Given the description of an element on the screen output the (x, y) to click on. 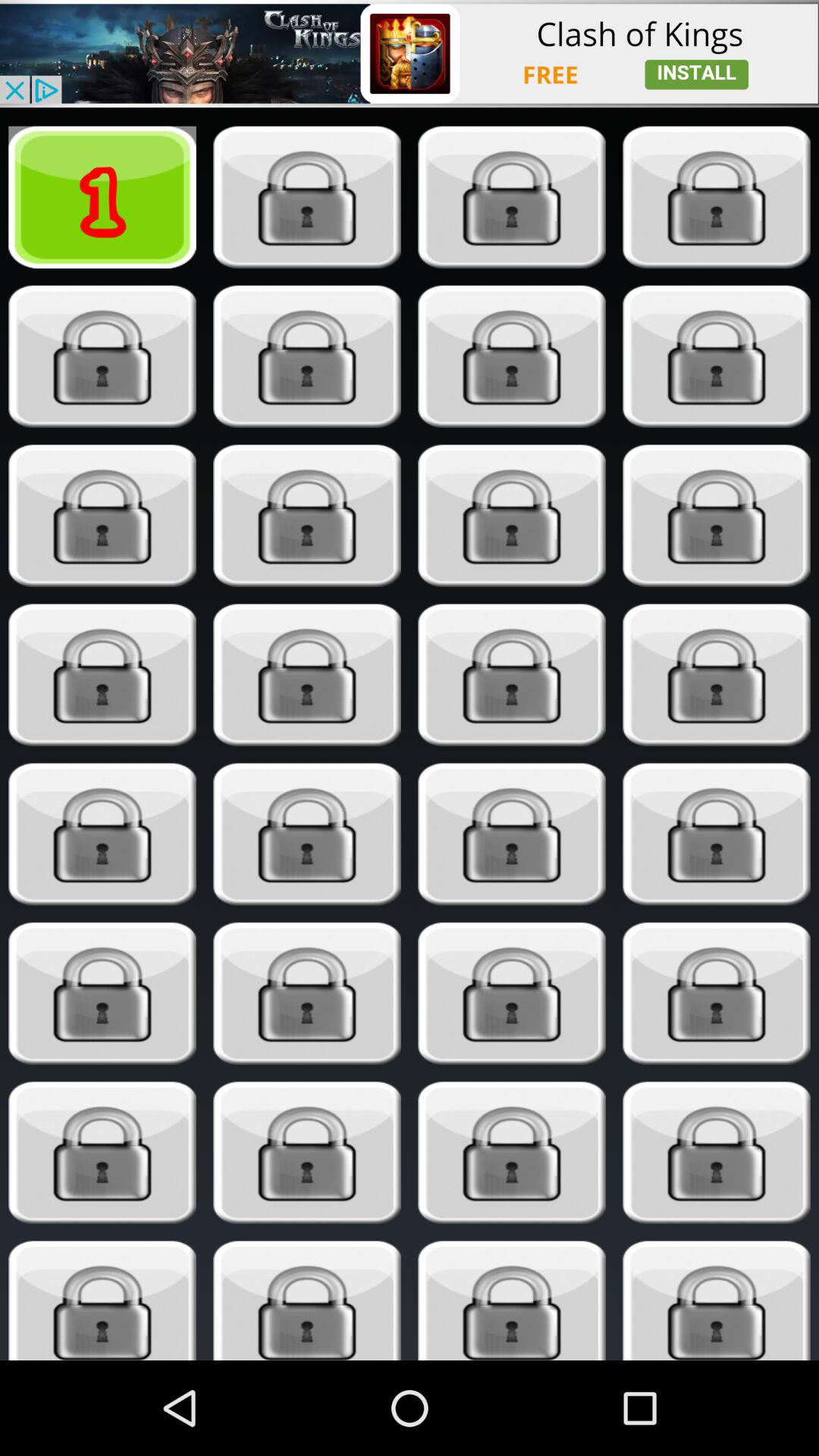
unlock (511, 515)
